Given the description of an element on the screen output the (x, y) to click on. 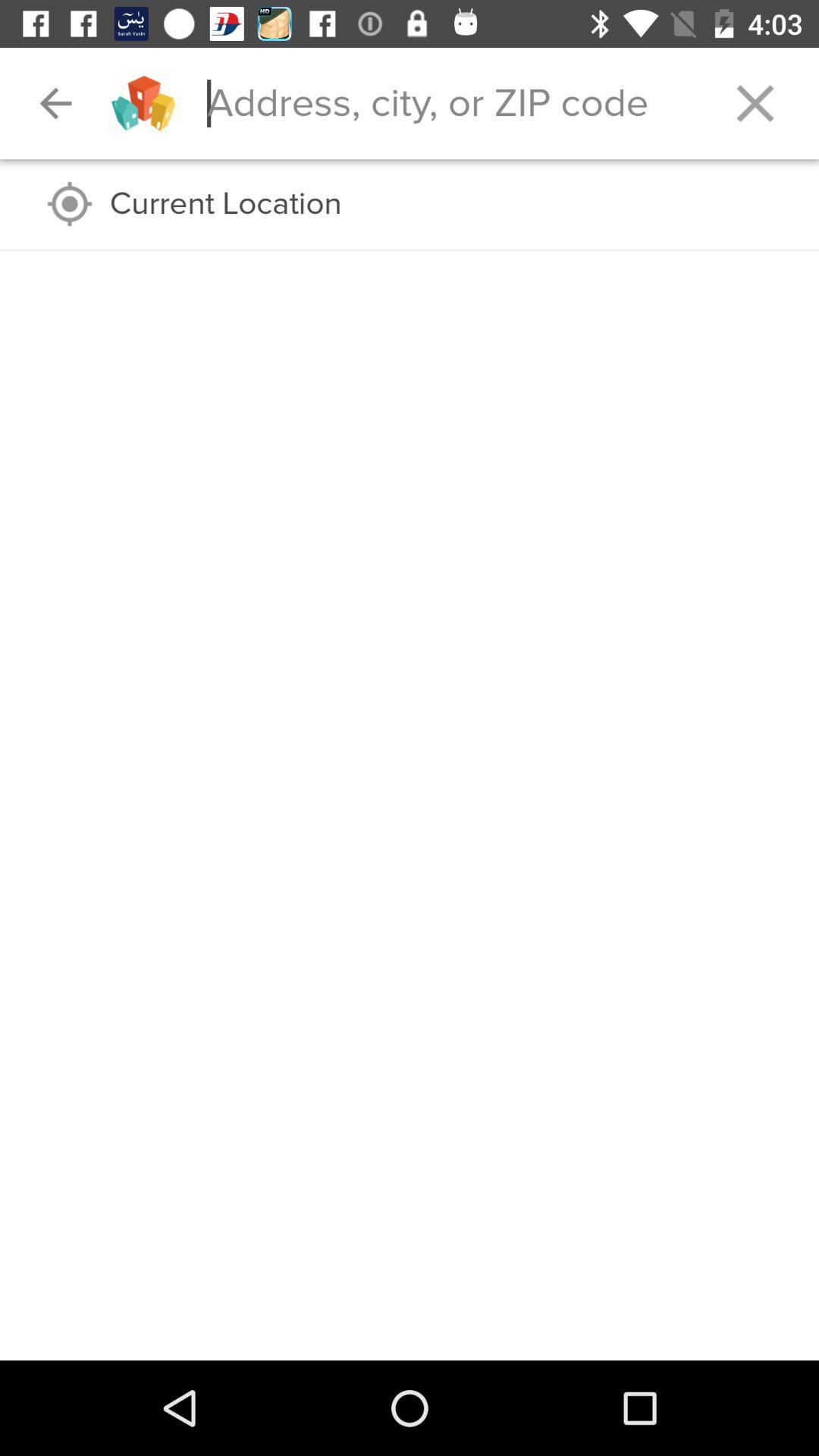
select the item next to current location item (69, 203)
